Given the description of an element on the screen output the (x, y) to click on. 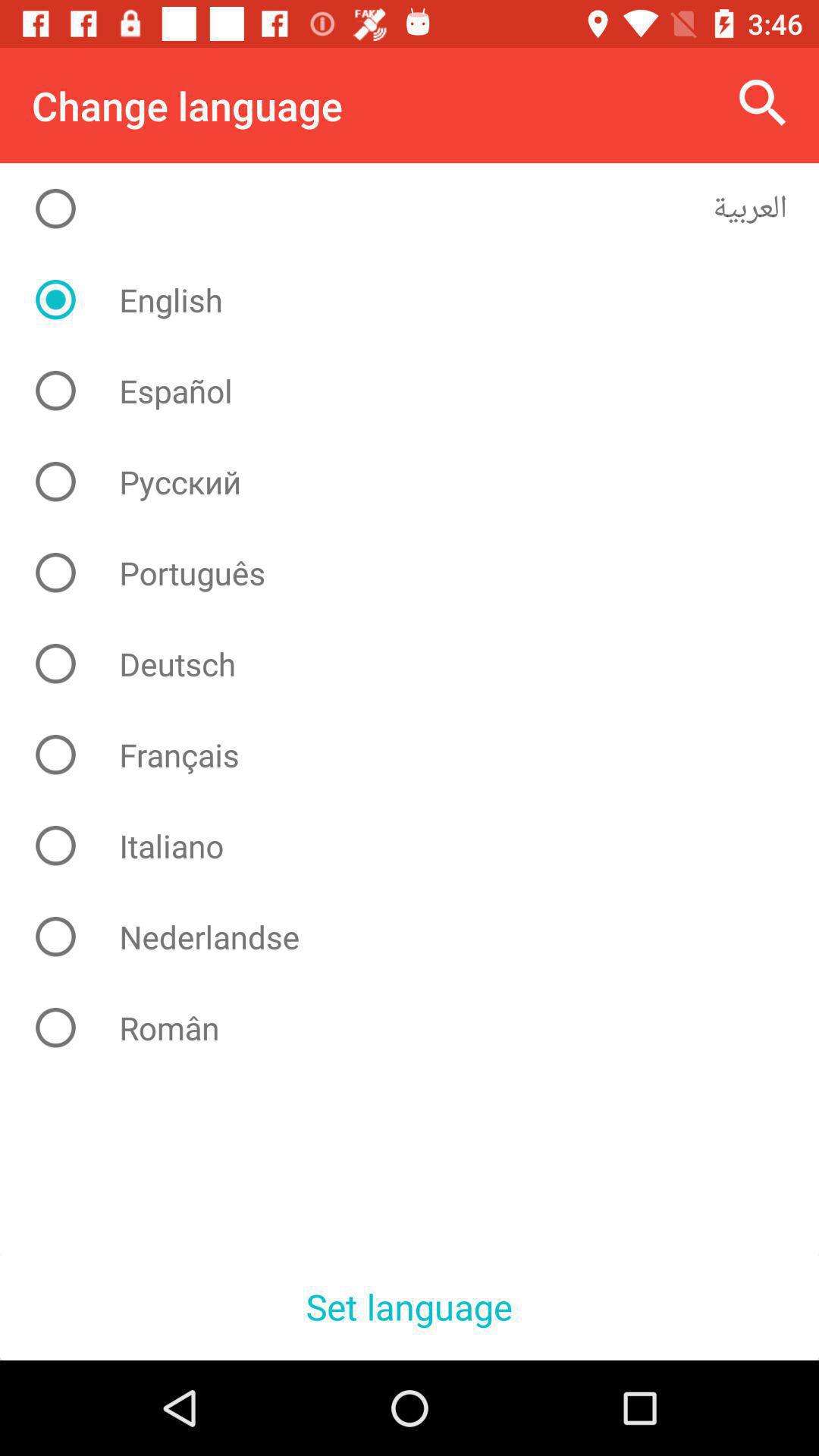
open the item below italiano icon (421, 936)
